Given the description of an element on the screen output the (x, y) to click on. 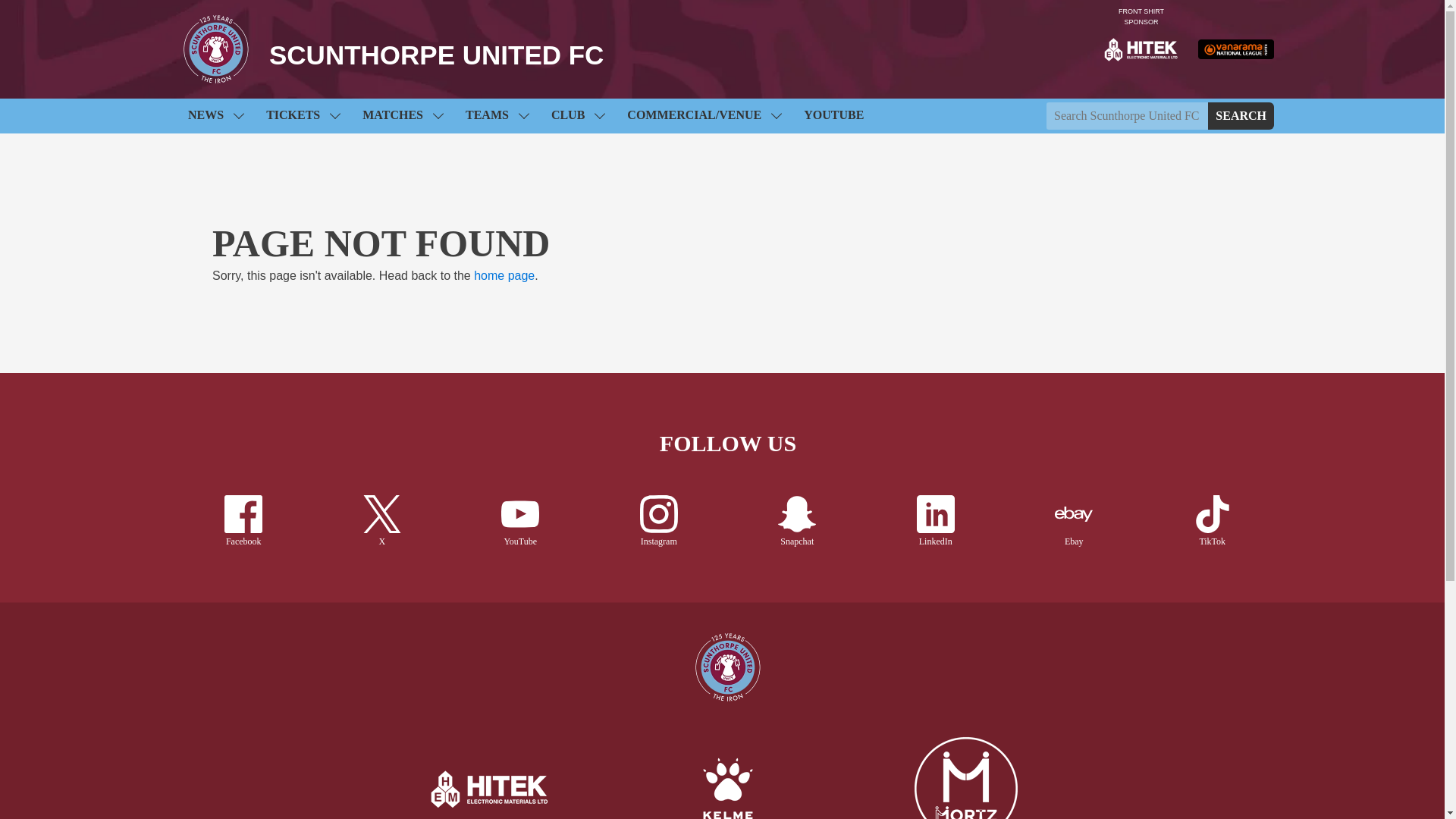
Link to Matches (402, 115)
NEWS (215, 115)
Link to Tickets (302, 115)
MATCHES (402, 115)
CLUB (577, 115)
Link to News (215, 115)
FRONT SHIRT SPONSOR (1141, 48)
TEAMS (497, 115)
Scunthorpe United FC badge - Link to home (216, 49)
TICKETS (302, 115)
